Given the description of an element on the screen output the (x, y) to click on. 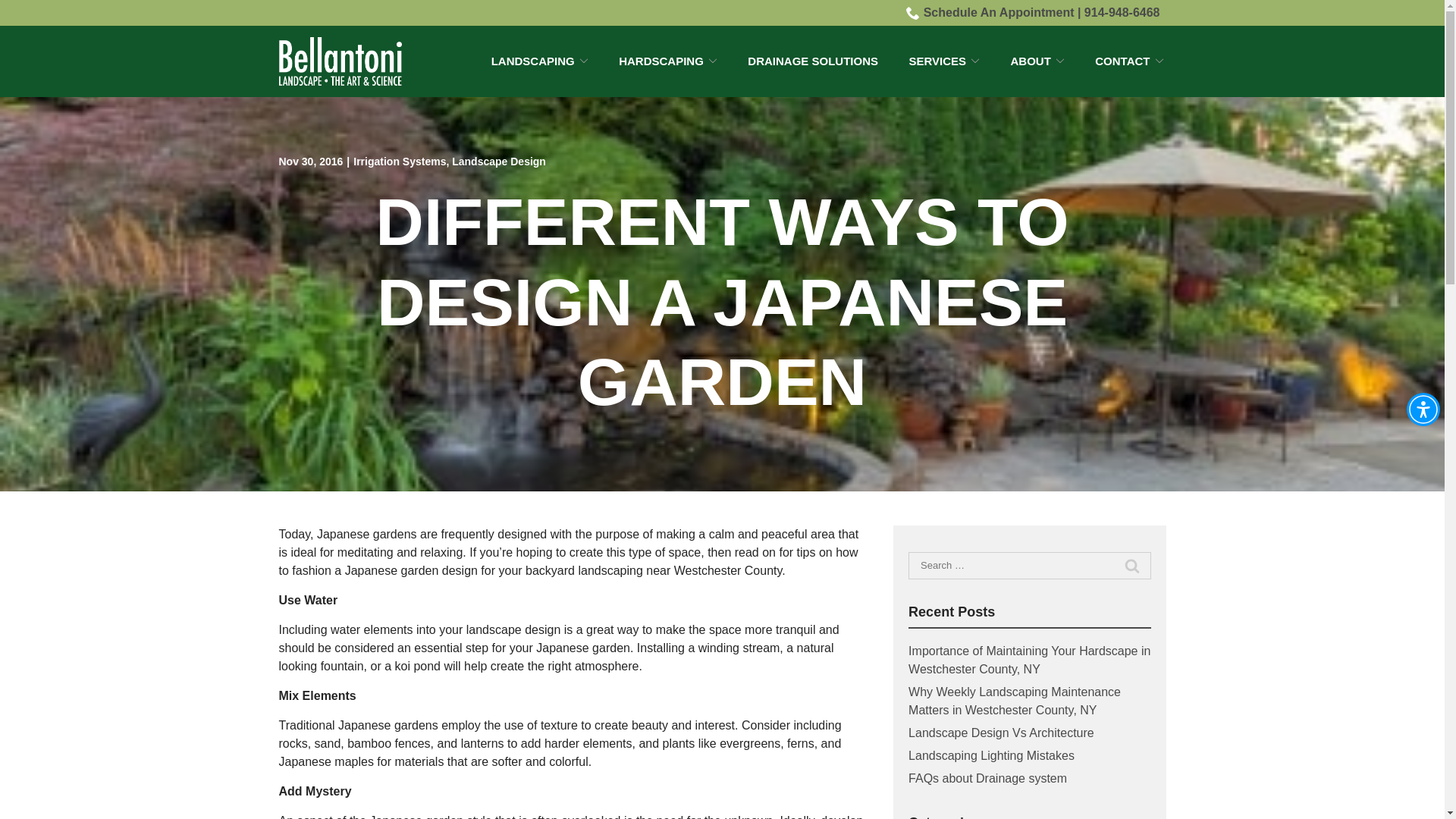
LANDSCAPING (540, 60)
ABOUT (1037, 60)
SERVICES (943, 60)
DRAINAGE SOLUTIONS (812, 60)
HARDSCAPING (667, 60)
Accessibility Menu (1422, 409)
